Given the description of an element on the screen output the (x, y) to click on. 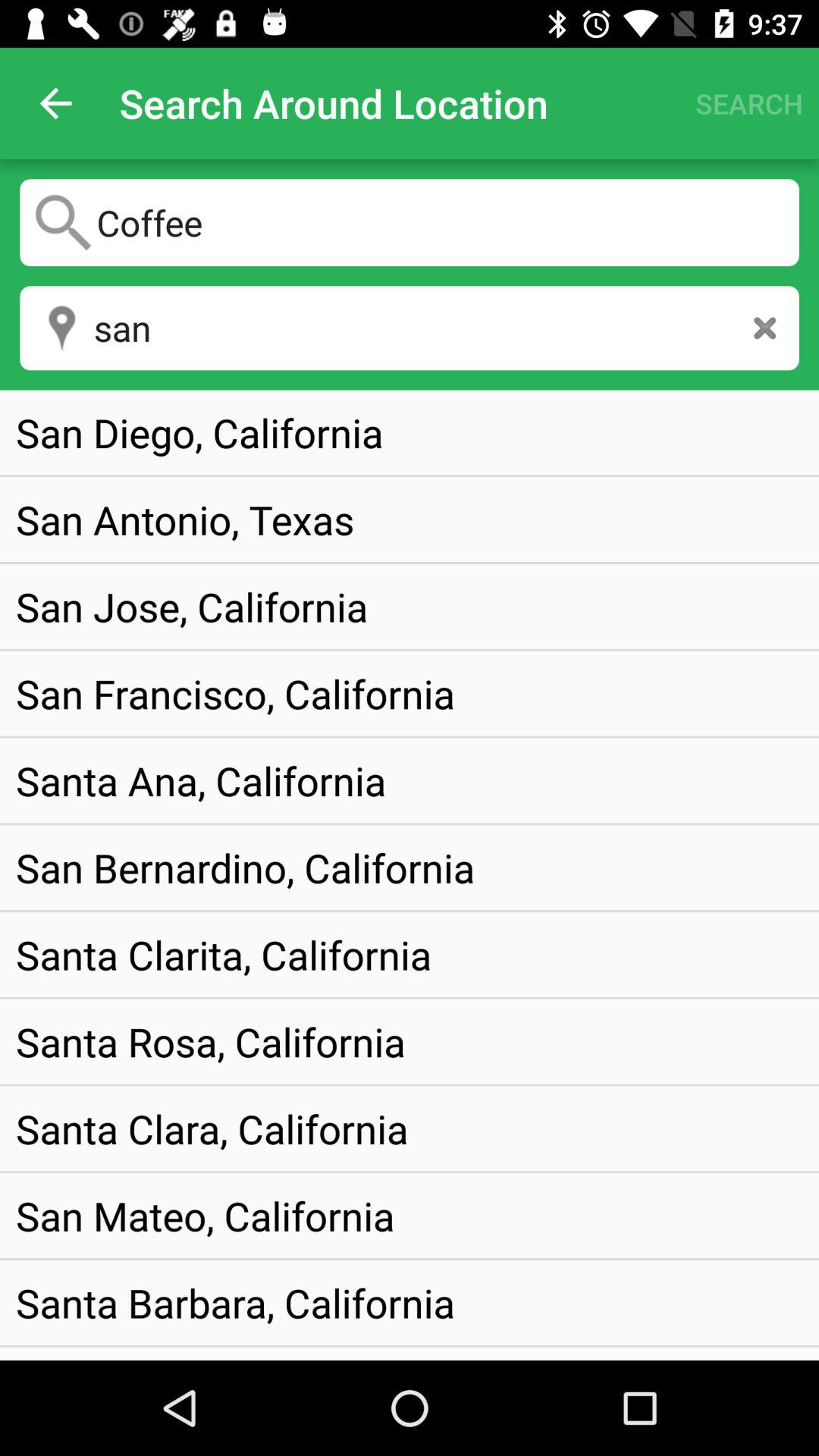
turn off the coffee (409, 222)
